Given the description of an element on the screen output the (x, y) to click on. 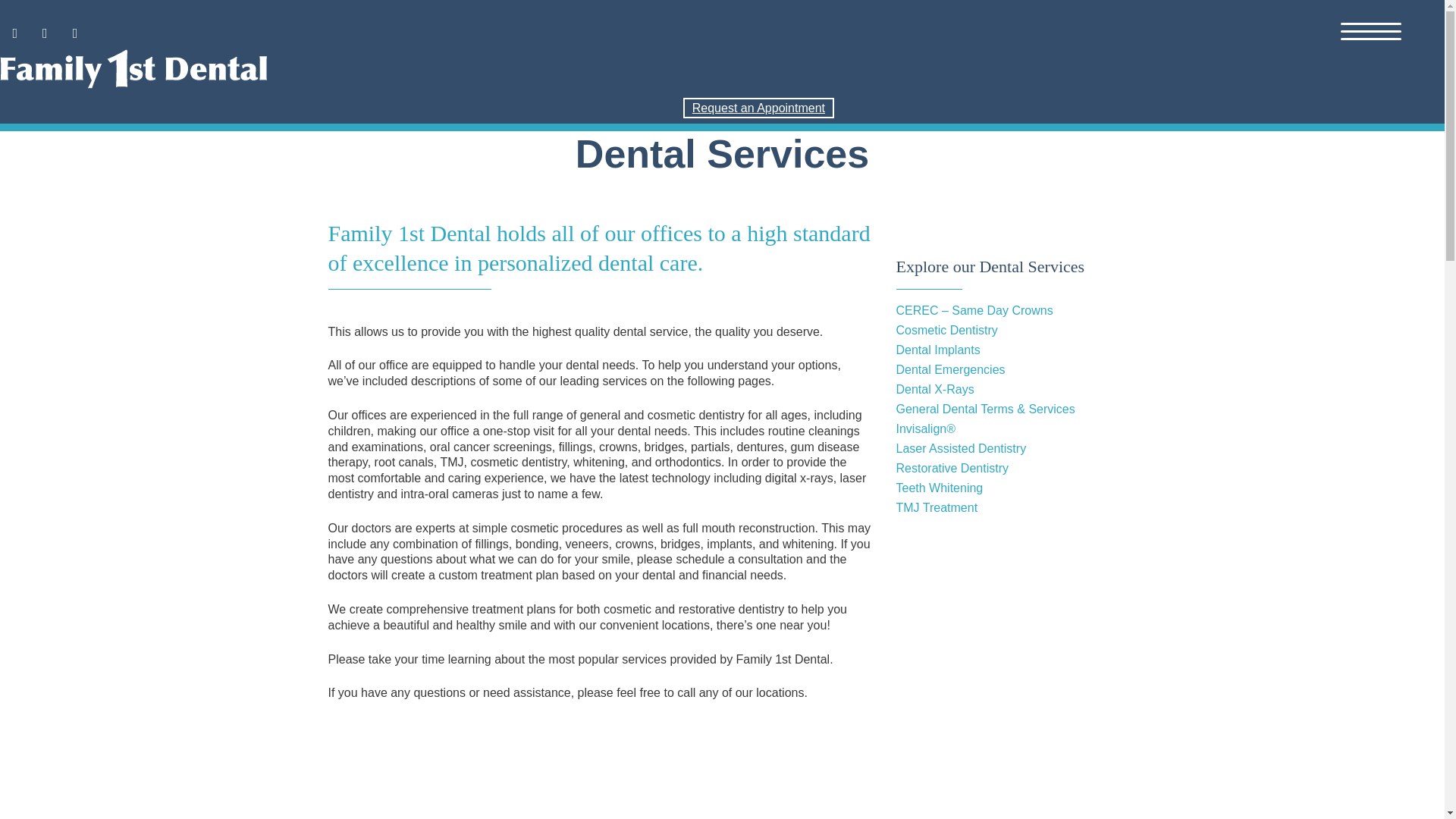
Default Label (74, 33)
Family 1st Dental (417, 68)
Facebook (15, 33)
Instagram (45, 33)
Request an Appointment (758, 107)
